Given the description of an element on the screen output the (x, y) to click on. 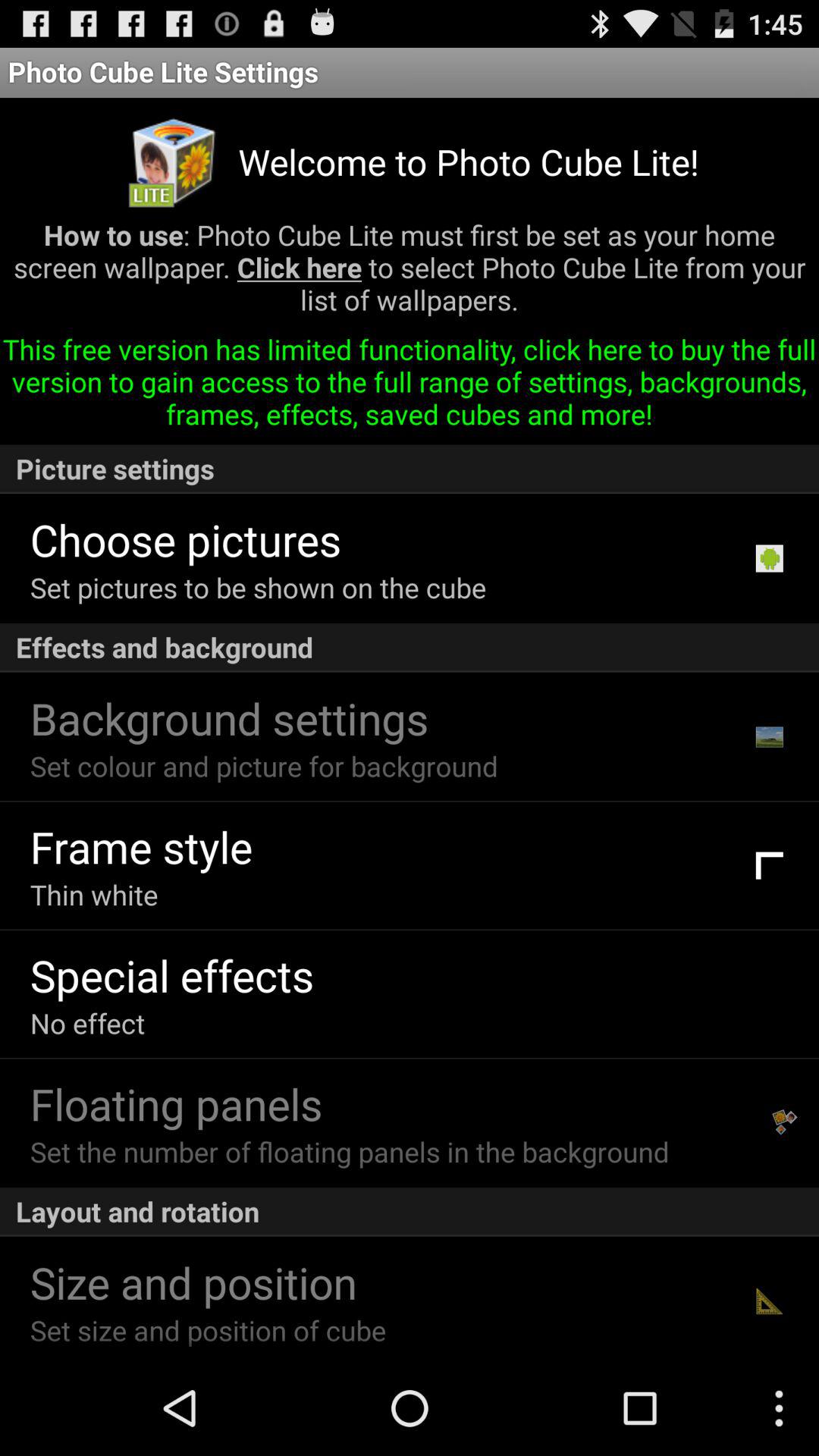
select item to the right of set size and (769, 1300)
